Given the description of an element on the screen output the (x, y) to click on. 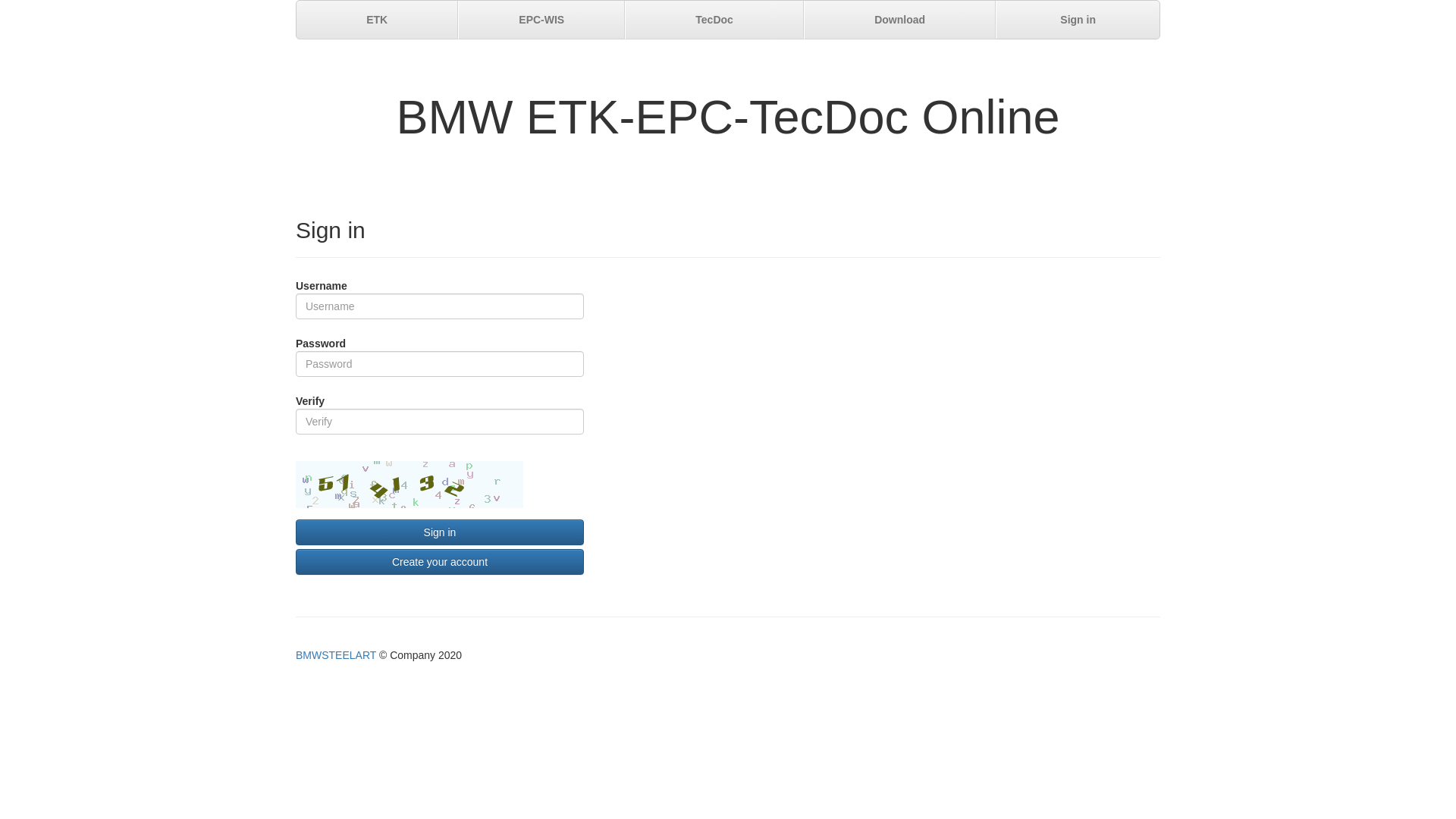
ETK Element type: text (377, 19)
Sign in Element type: text (439, 532)
BMWSTEELART Element type: text (337, 655)
Create your account Element type: text (439, 561)
Download Element type: text (899, 19)
TecDoc Element type: text (713, 19)
EPC-WIS Element type: text (541, 19)
Sign in Element type: text (1077, 19)
